Given the description of an element on the screen output the (x, y) to click on. 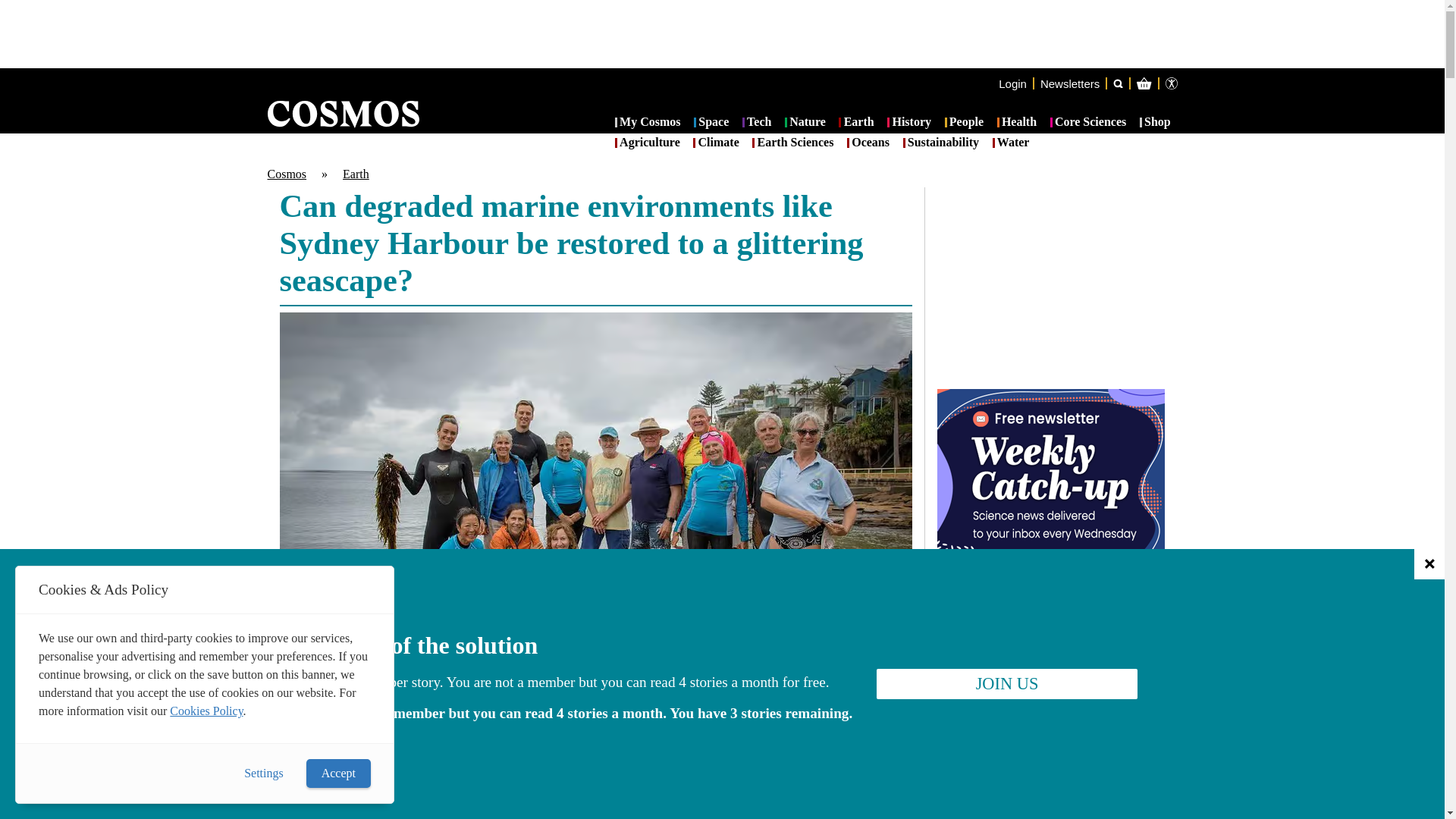
Climate (715, 143)
Health (1016, 122)
JOIN US (1006, 684)
Login (1012, 82)
Earth (855, 122)
Drew Rooke (331, 777)
My Cosmos (647, 122)
Accessibility Tools (1170, 82)
Nature (804, 122)
Cart (1227, 144)
